Given the description of an element on the screen output the (x, y) to click on. 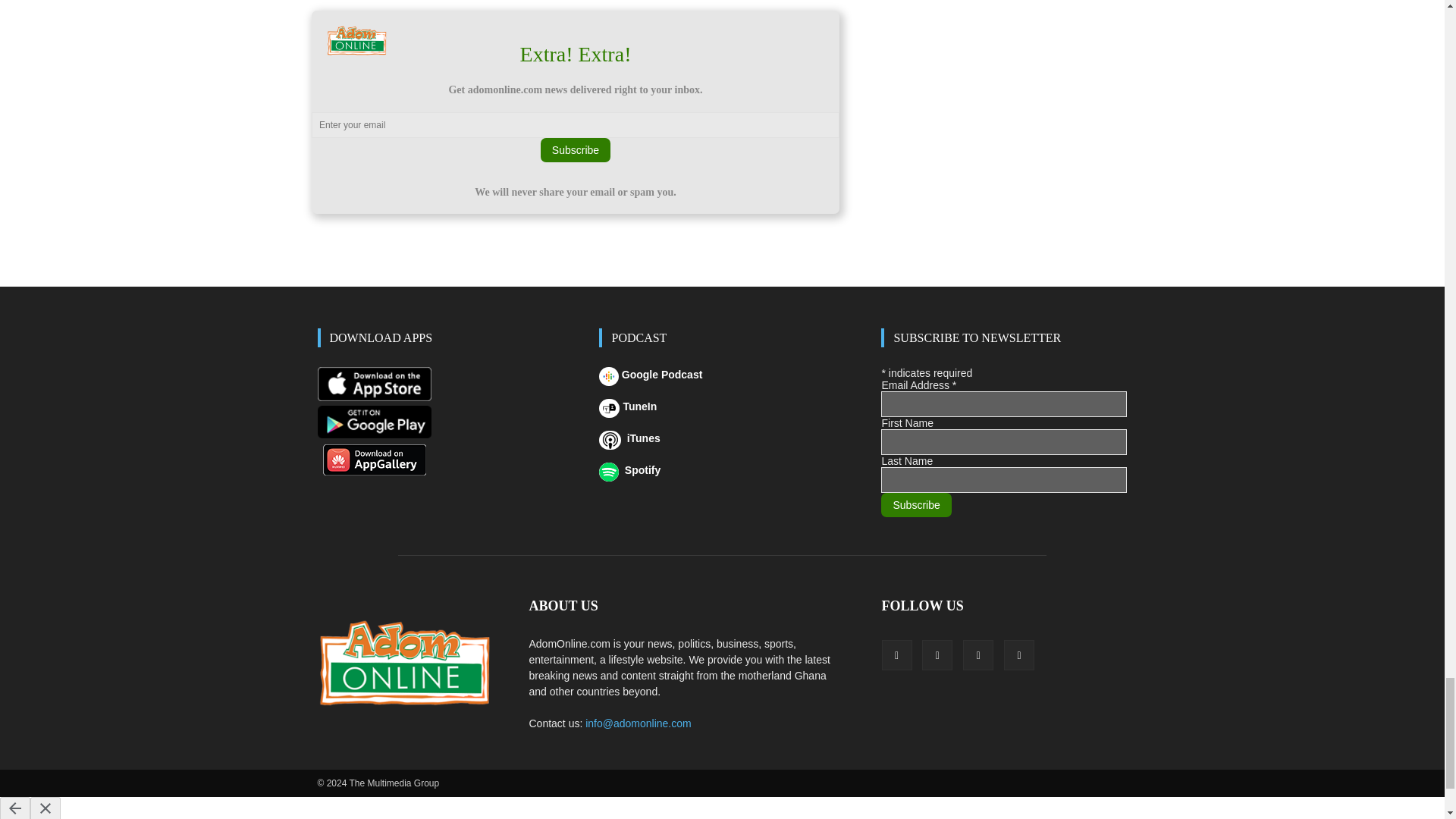
Subscribe (915, 504)
Subscribe (575, 150)
